Given the description of an element on the screen output the (x, y) to click on. 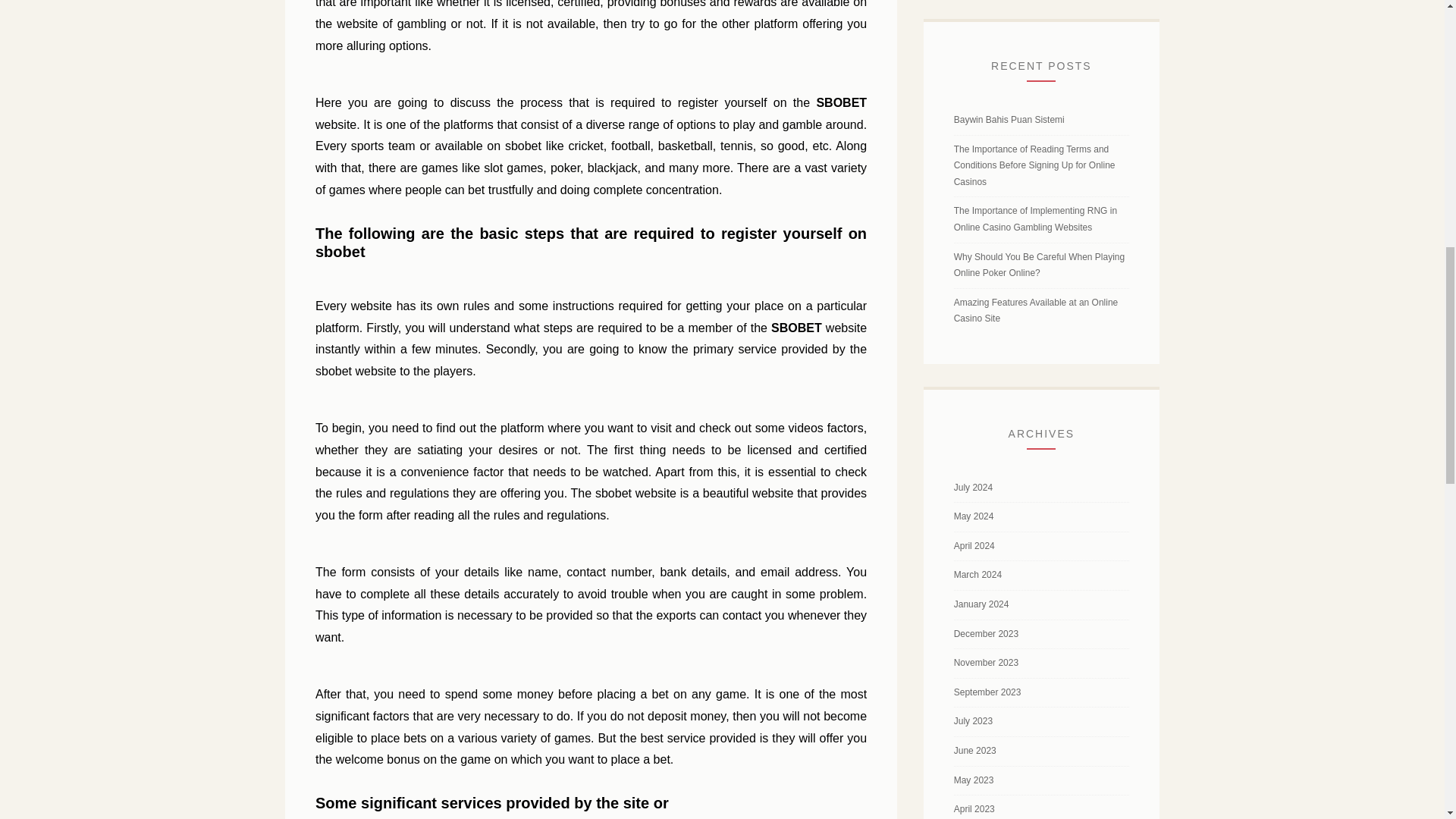
July 2024 (972, 487)
March 2024 (977, 574)
July 2023 (972, 720)
May 2023 (973, 779)
April 2024 (973, 545)
November 2023 (985, 662)
September 2023 (987, 692)
May 2024 (973, 516)
Amazing Features Available at an Online Casino Site (1035, 310)
April 2023 (973, 808)
January 2024 (981, 603)
December 2023 (985, 633)
June 2023 (974, 750)
